Given the description of an element on the screen output the (x, y) to click on. 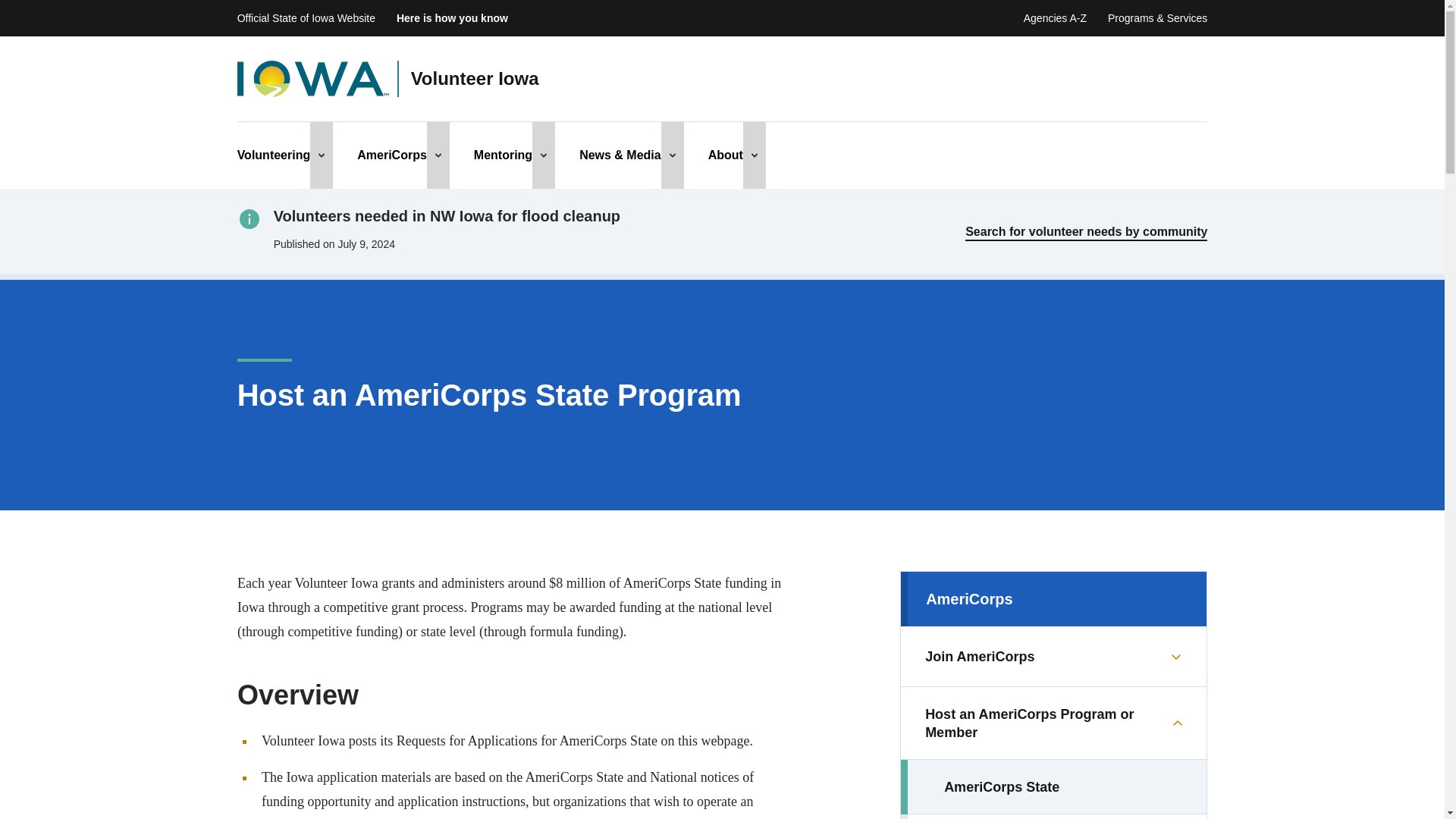
Agencies A-Z (1054, 18)
Here is how you know (452, 18)
AmeriCorps (391, 155)
Volunteer Iowa (474, 78)
Volunteering (274, 155)
